Given the description of an element on the screen output the (x, y) to click on. 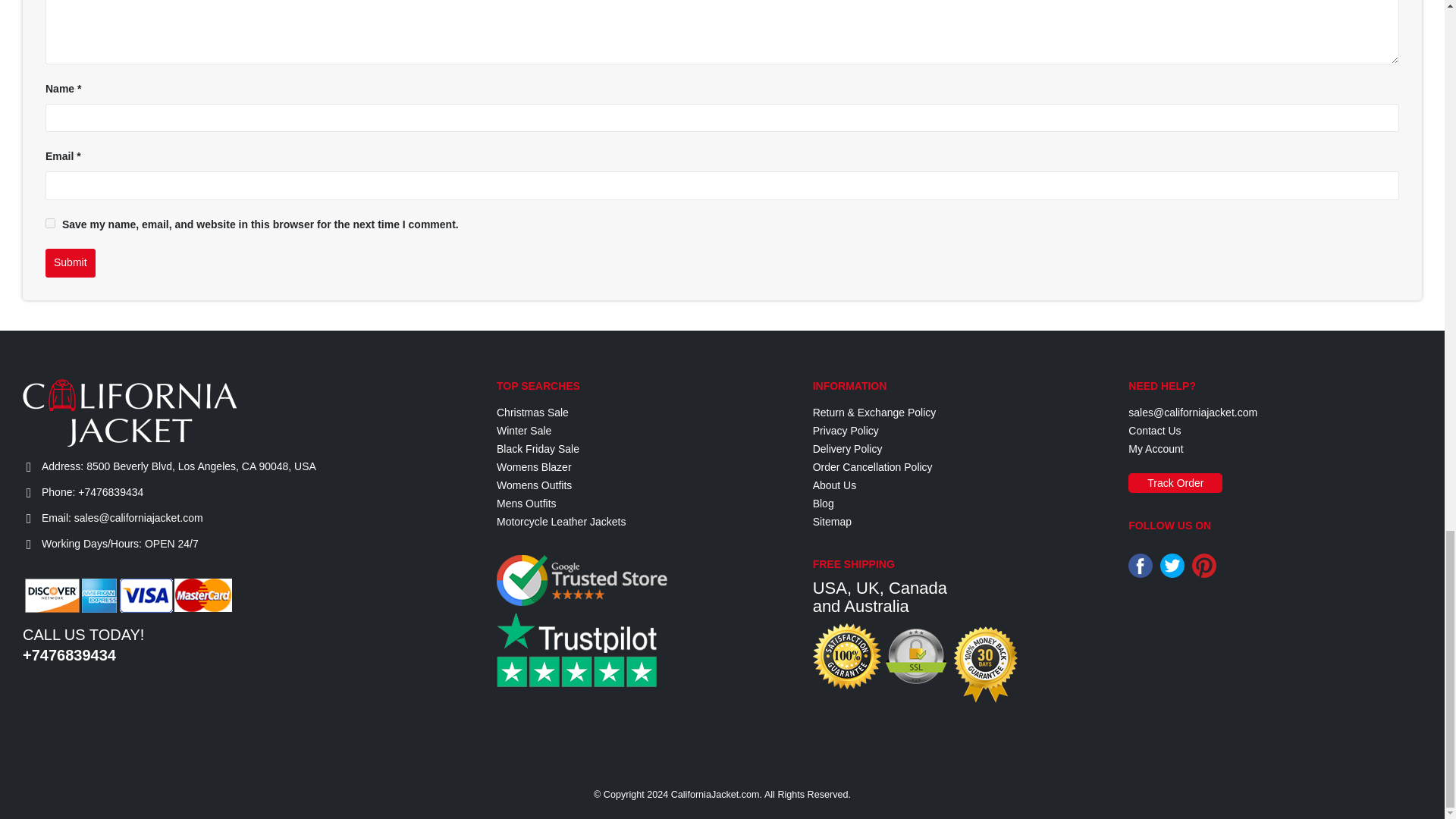
Submit (70, 262)
Winter Sale (523, 430)
Christmas Sale Collection (532, 412)
yes (50, 223)
